Given the description of an element on the screen output the (x, y) to click on. 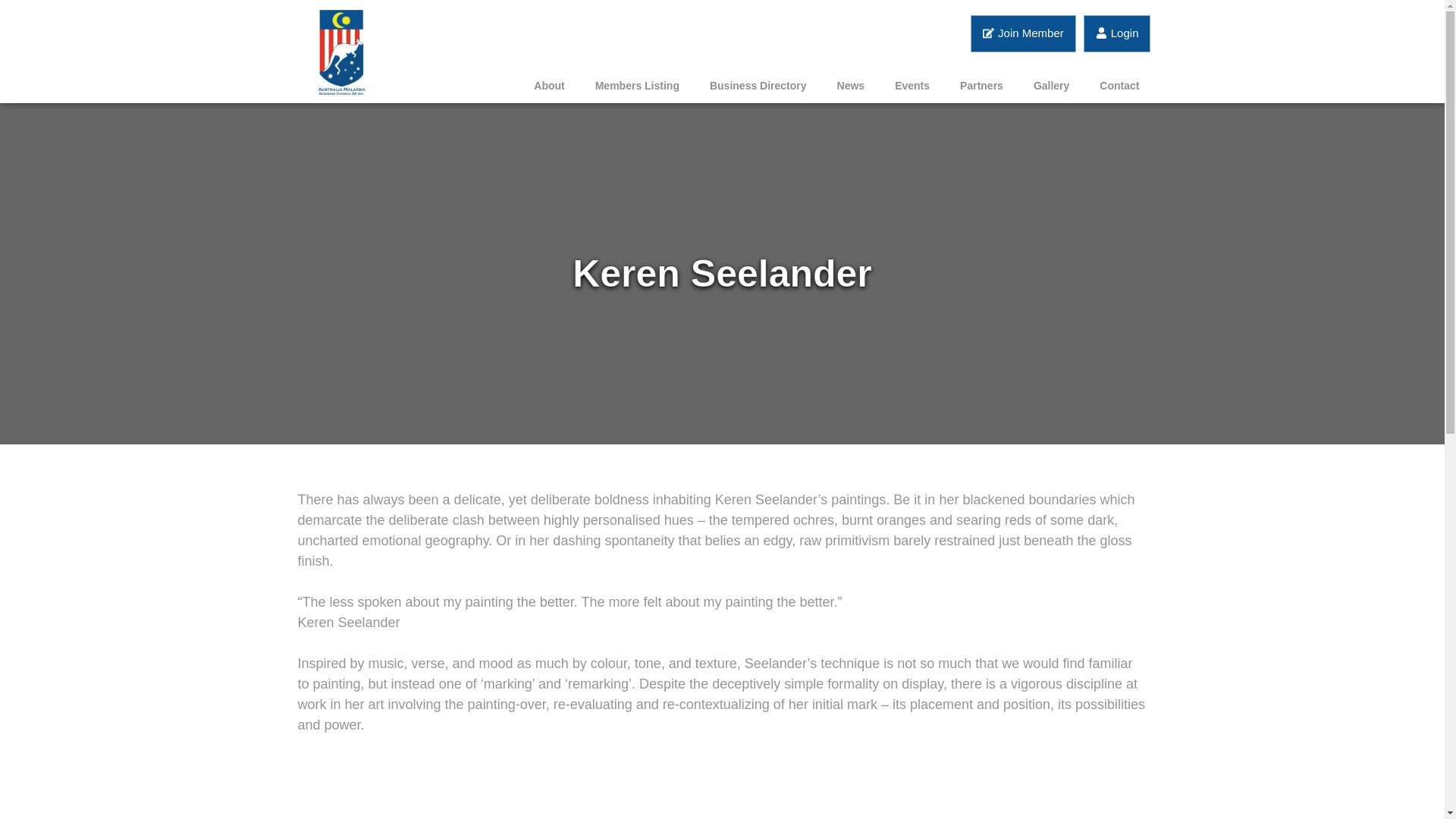
Members Listing (636, 85)
Login (1117, 33)
Partners (980, 85)
Business Directory (758, 85)
Gallery (1050, 85)
Contact (1119, 85)
Join Member (1023, 33)
Events (911, 85)
News (851, 85)
About (548, 85)
